Given the description of an element on the screen output the (x, y) to click on. 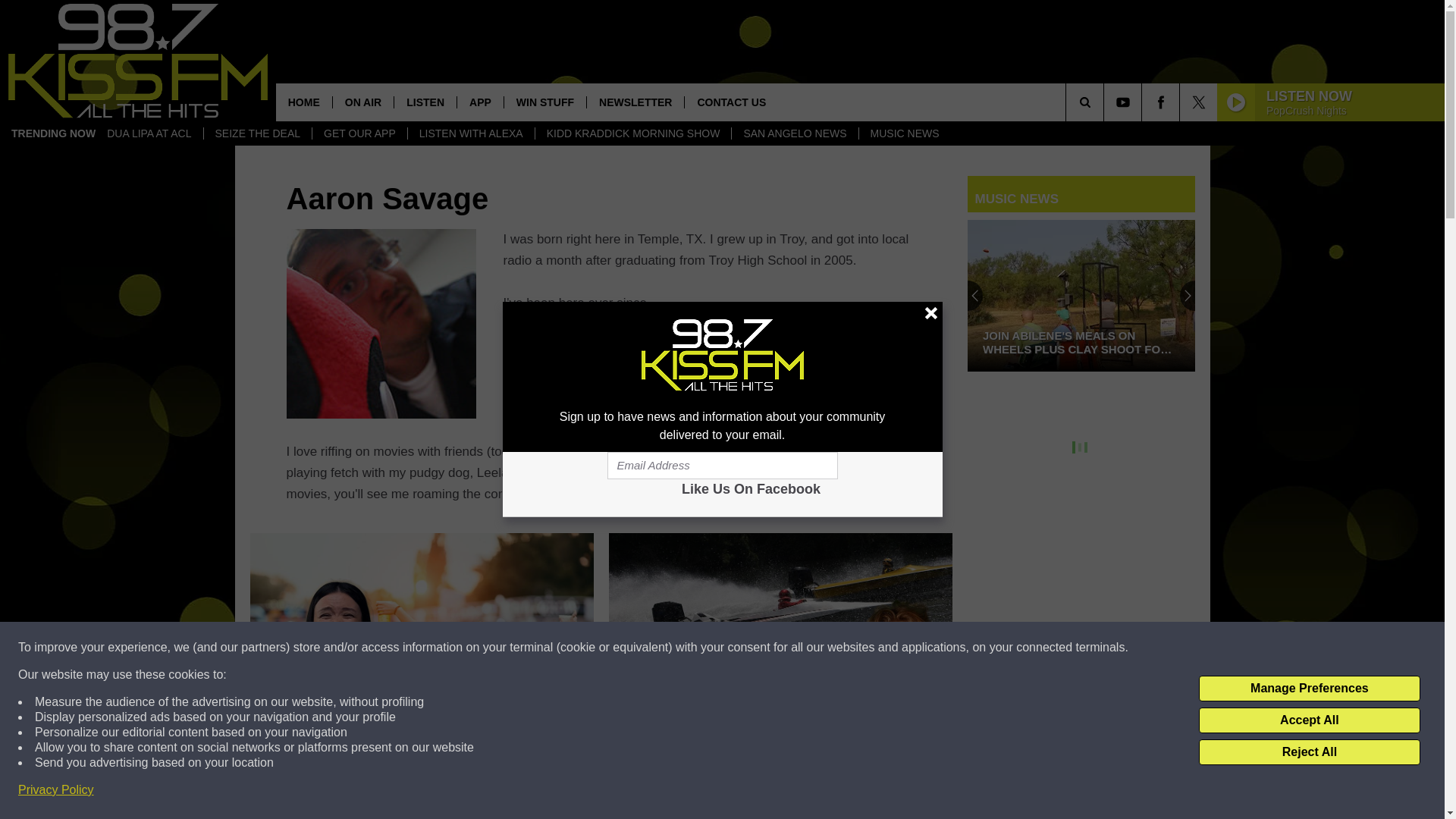
Accept All (1309, 720)
DUA LIPA AT ACL (149, 133)
SEARCH (1106, 102)
WIN STUFF (544, 102)
Reject All (1309, 751)
KIDD KRADDICK MORNING SHOW (633, 133)
ON AIR (362, 102)
SEARCH (1106, 102)
HOME (303, 102)
NEWSLETTER (635, 102)
APP (480, 102)
Privacy Policy (55, 789)
LISTEN WITH ALEXA (470, 133)
LISTEN (425, 102)
SAN ANGELO NEWS (793, 133)
